Given the description of an element on the screen output the (x, y) to click on. 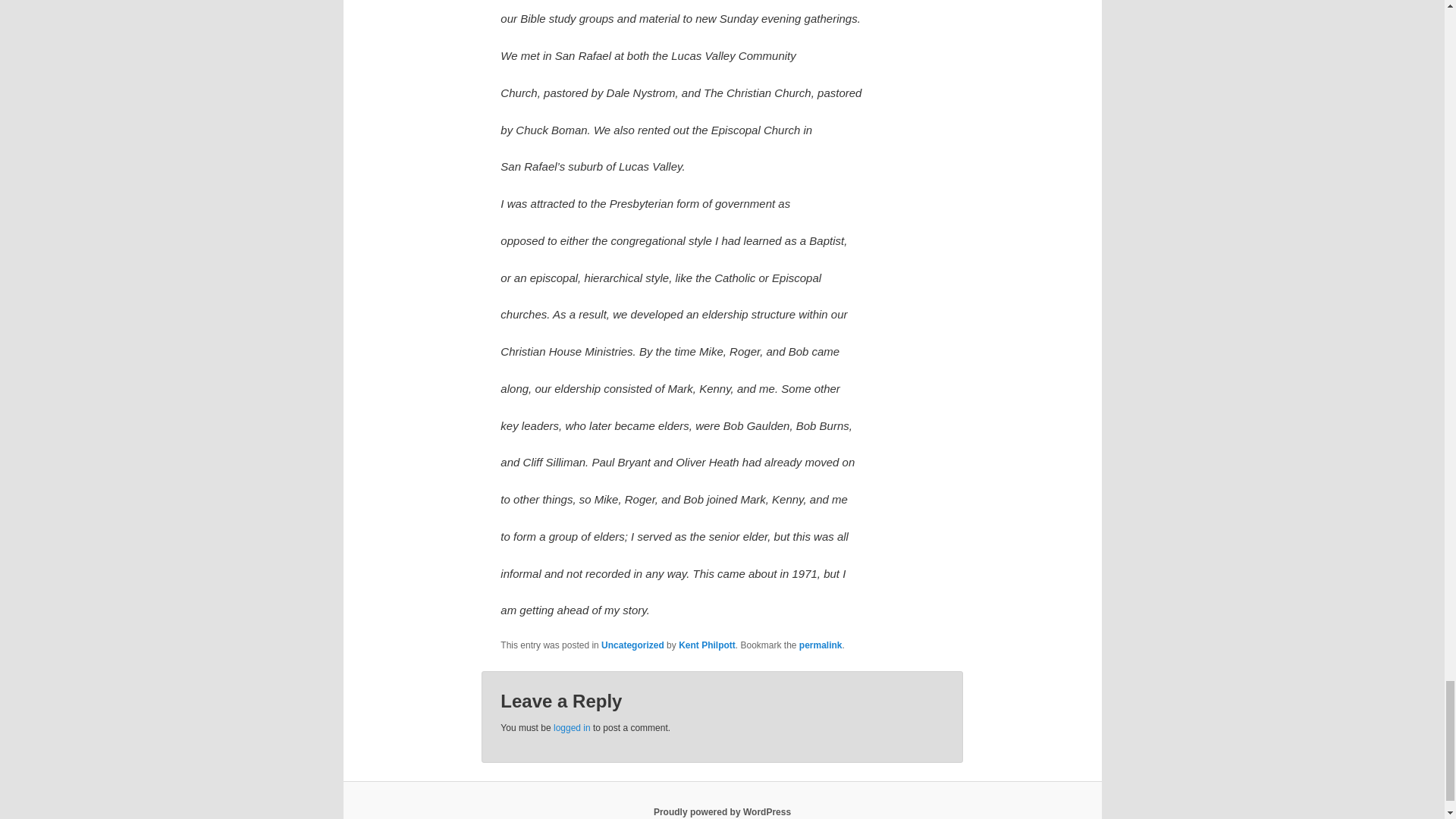
logged in (572, 727)
Semantic Personal Publishing Platform (721, 811)
Uncategorized (632, 644)
Proudly powered by WordPress (721, 811)
Permalink to Early Leaders in Marin County (821, 644)
Kent Philpott (706, 644)
permalink (821, 644)
